Given the description of an element on the screen output the (x, y) to click on. 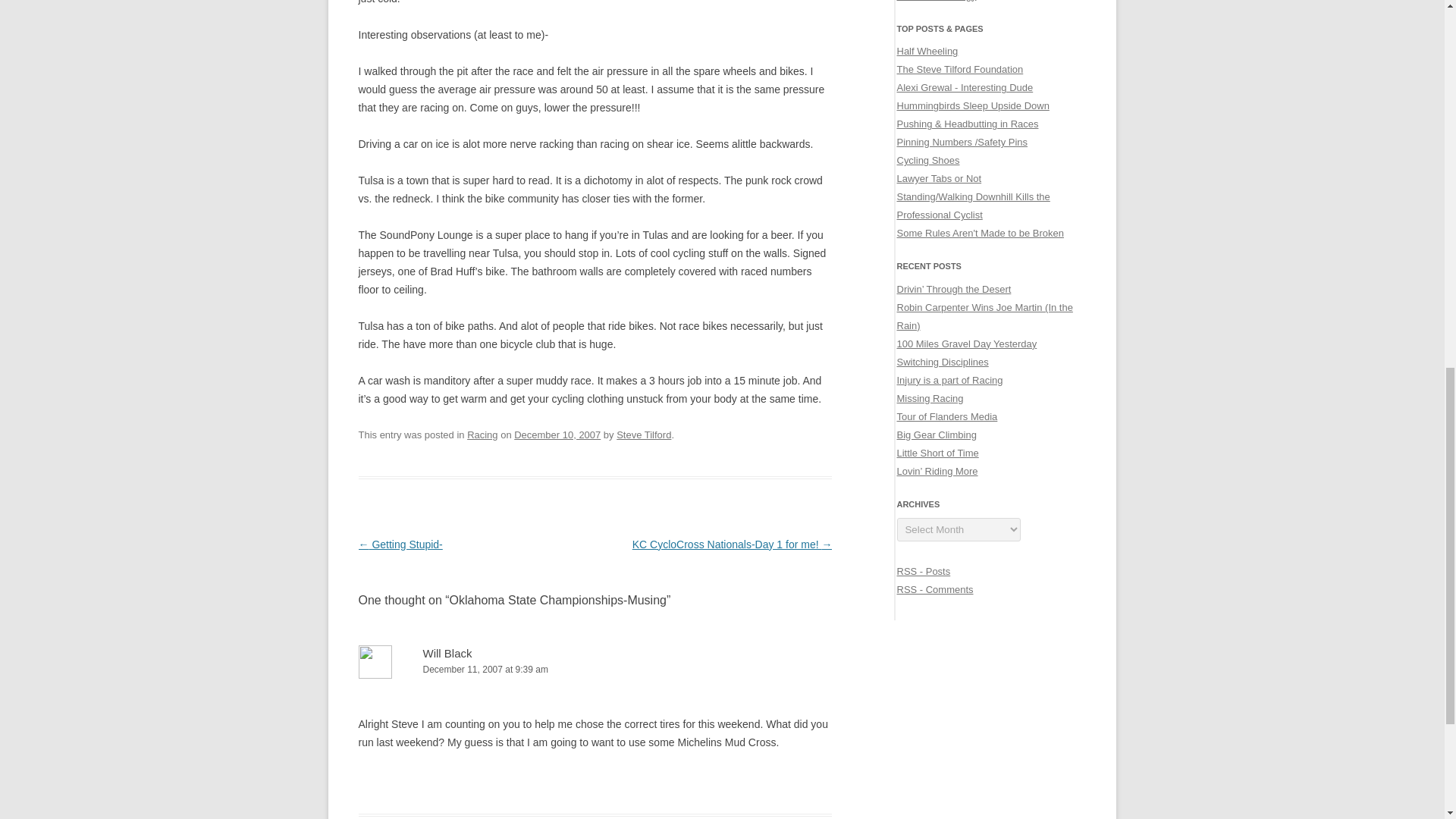
December 10, 2007 (556, 434)
Steve Tilford (643, 434)
Racing (482, 434)
9:01 am (556, 434)
December 11, 2007 at 9:39 am (594, 669)
View all posts by Steve Tilford (643, 434)
